Given the description of an element on the screen output the (x, y) to click on. 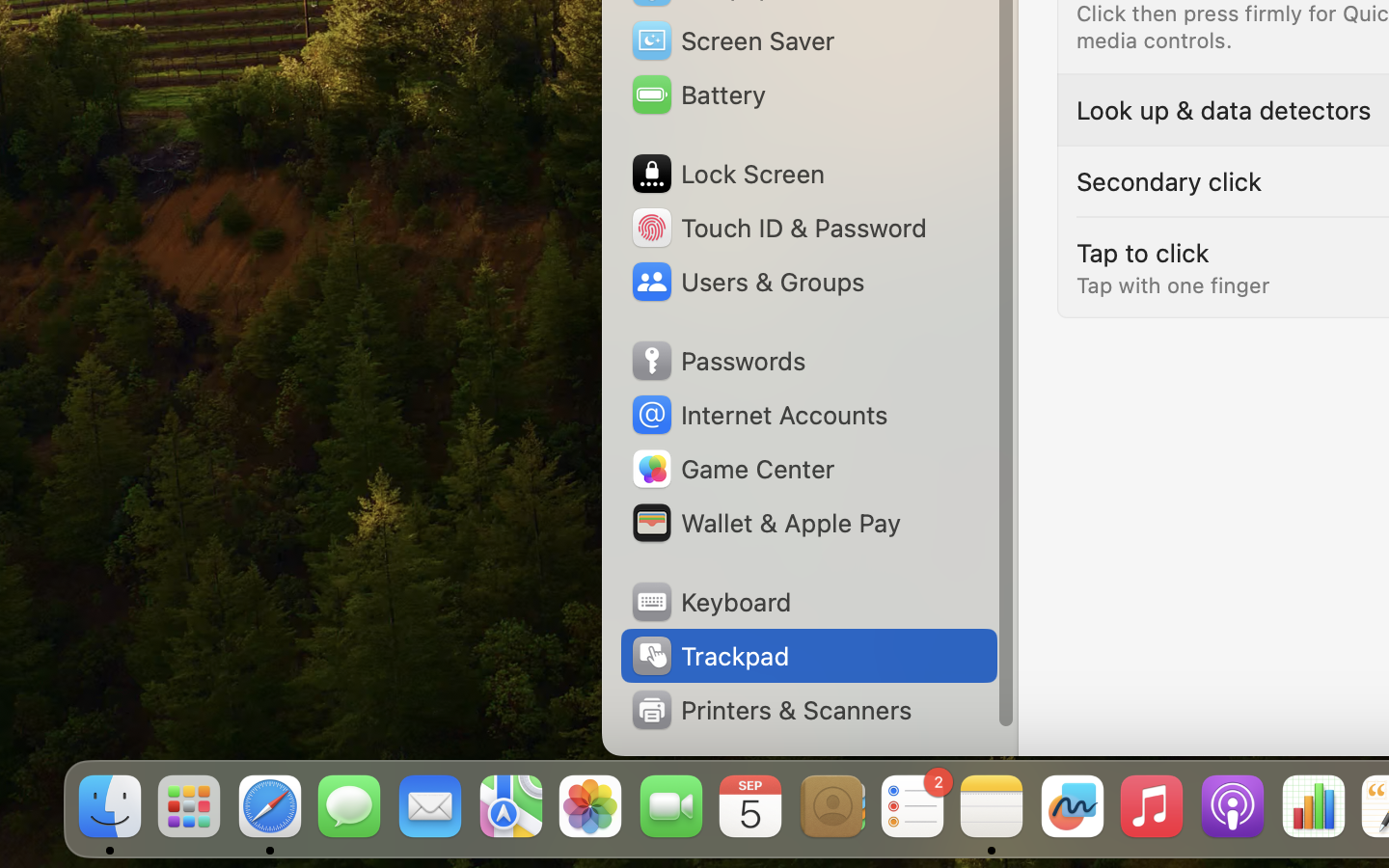
Lock Screen Element type: AXStaticText (726, 173)
Secondary click Element type: AXStaticText (1168, 180)
Internet Accounts Element type: AXStaticText (757, 414)
Wallet & Apple Pay Element type: AXStaticText (764, 522)
Tap to click Element type: AXStaticText (1142, 252)
